Given the description of an element on the screen output the (x, y) to click on. 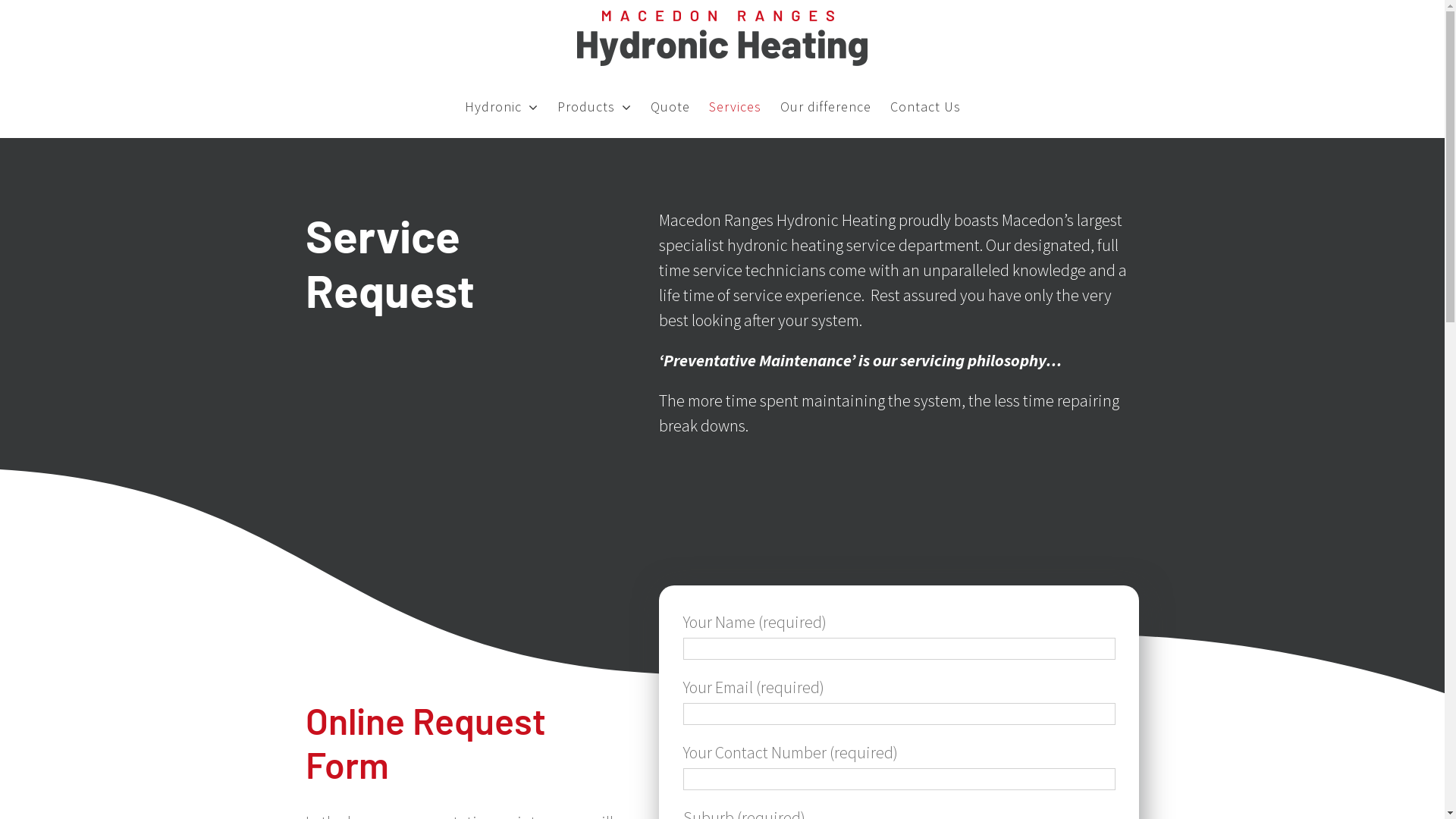
Services Element type: text (735, 106)
Contact Us Element type: text (925, 106)
Products Element type: text (594, 106)
Our difference Element type: text (825, 106)
Hydronic Element type: text (501, 106)
Quote Element type: text (670, 106)
